Given the description of an element on the screen output the (x, y) to click on. 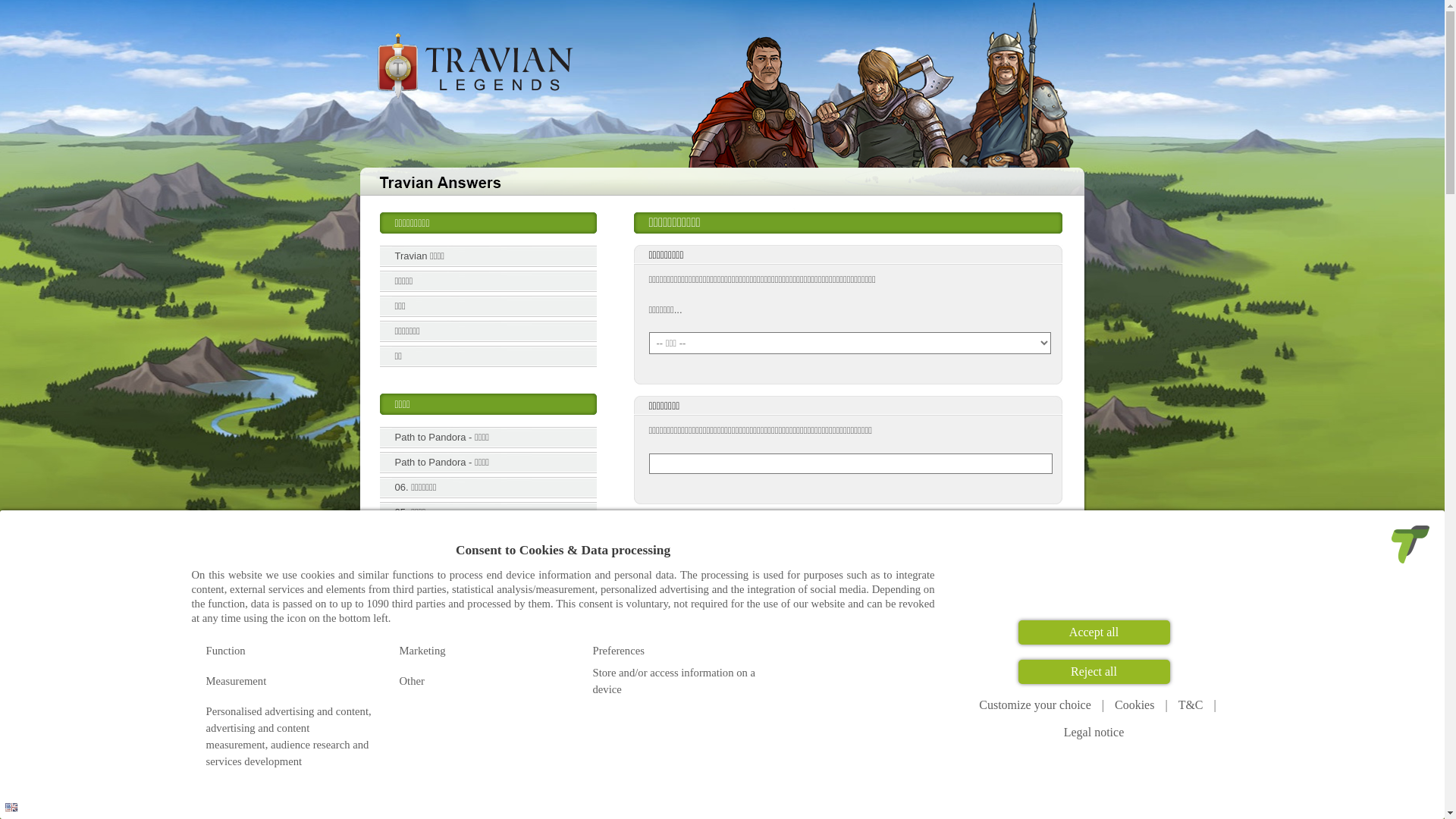
Cookies Element type: text (1134, 704)
Reject all Element type: text (1093, 671)
Privacy settings Element type: hover (17, 801)
Language: en Element type: hover (11, 806)
T&C Element type: text (1190, 704)
Accept all Element type: text (1093, 632)
Language: en Element type: hover (11, 807)
Customize your choice Element type: text (1034, 704)
Legal notice Element type: text (1094, 732)
